Given the description of an element on the screen output the (x, y) to click on. 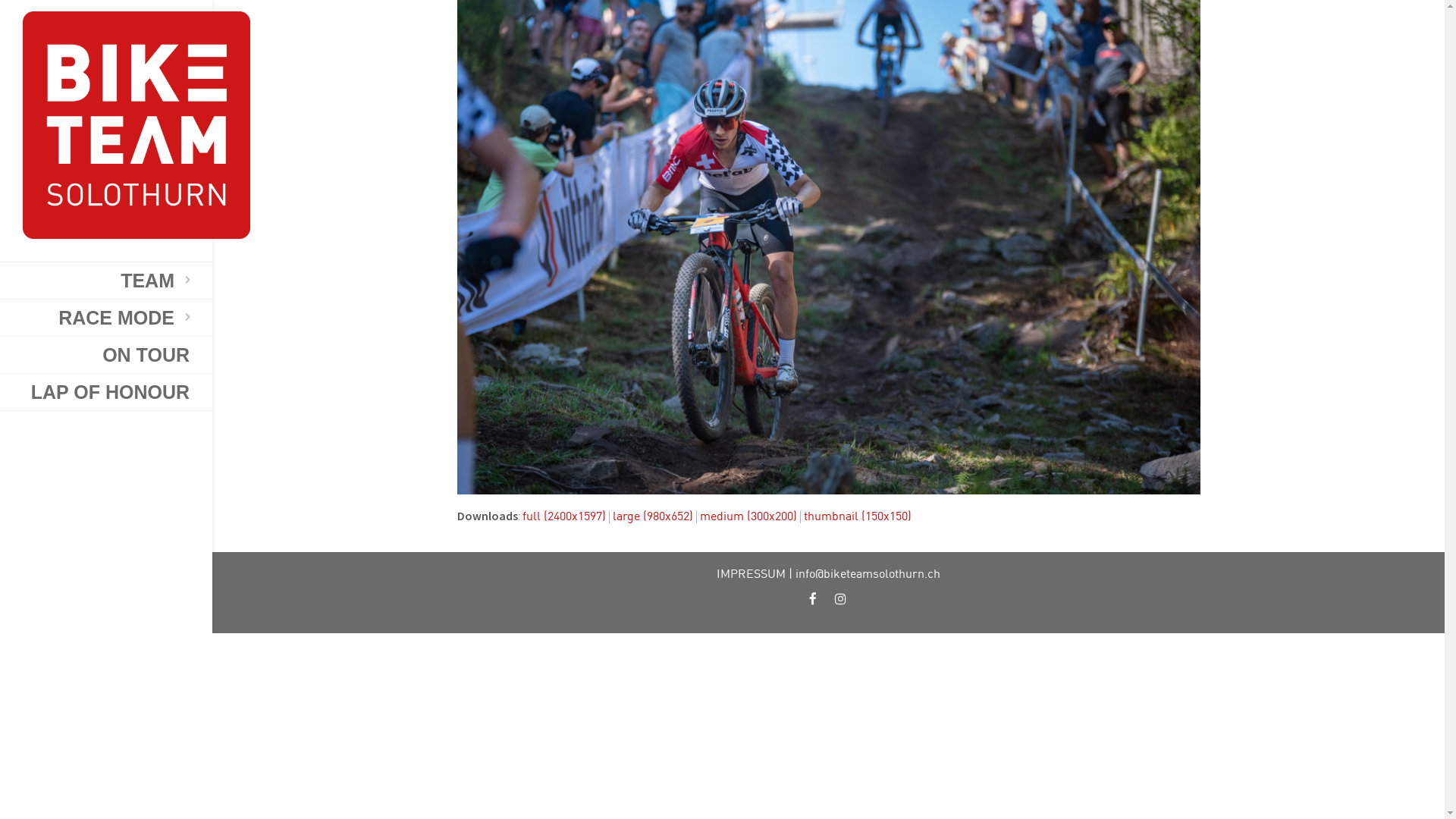
medium (300x200) Element type: text (747, 515)
Facebook Element type: hover (812, 604)
TEAM Element type: text (106, 280)
ON TOUR Element type: text (106, 354)
large (980x652) Element type: text (652, 515)
Instagram Element type: hover (840, 604)
thumbnail (150x150) Element type: text (857, 515)
info@biketeamsolothurn.ch Element type: text (867, 572)
full (2400x1597) Element type: text (563, 515)
IMPRESSUM Element type: text (750, 572)
Biketeam Solothurn Element type: hover (105, 124)
LAP OF HONOUR Element type: text (106, 391)
RACE MODE Element type: text (106, 317)
